Given the description of an element on the screen output the (x, y) to click on. 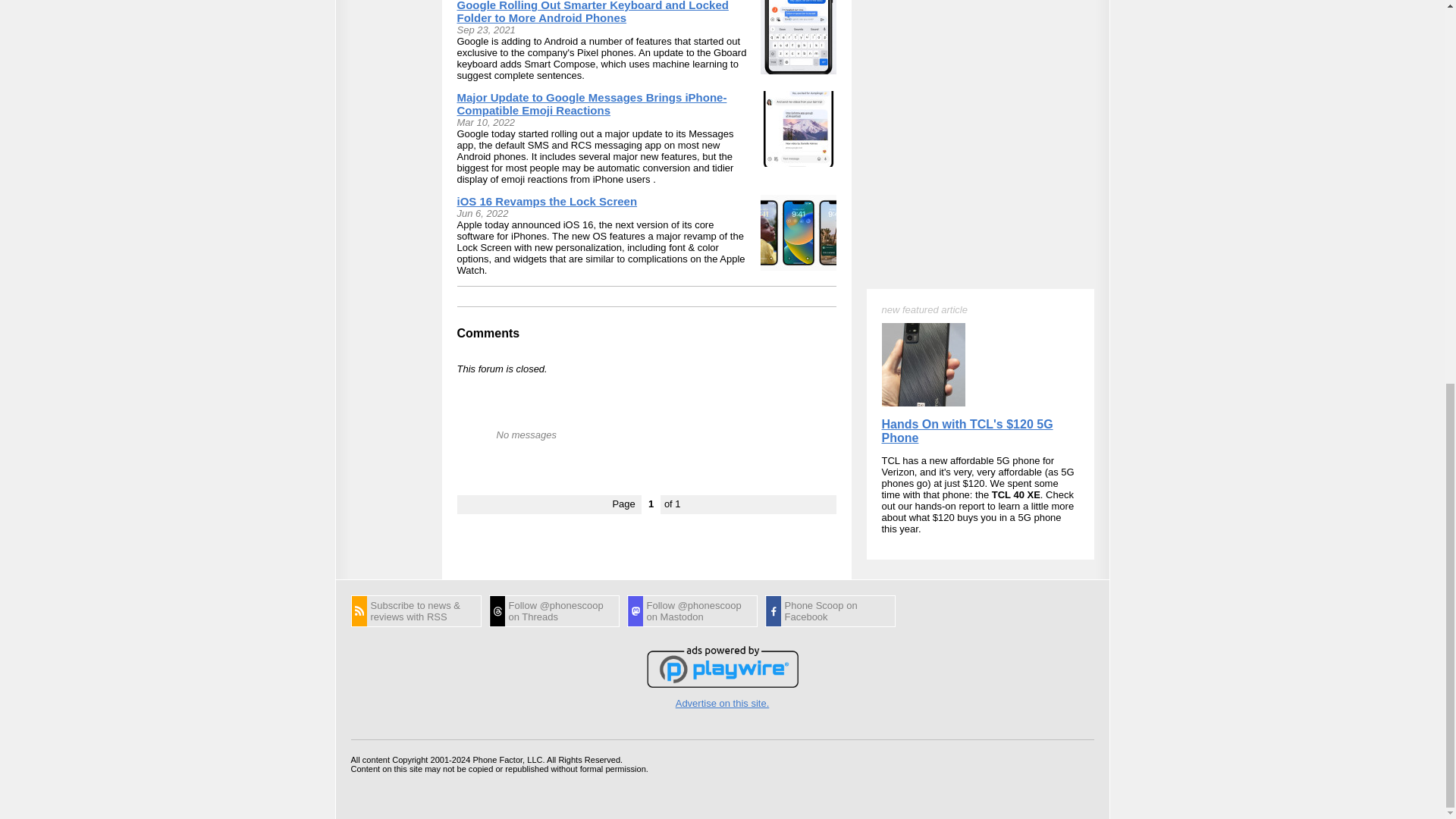
Phone Scoop on Facebook (829, 611)
Phone Scoop - Latest News (415, 611)
Comments (488, 332)
